Given the description of an element on the screen output the (x, y) to click on. 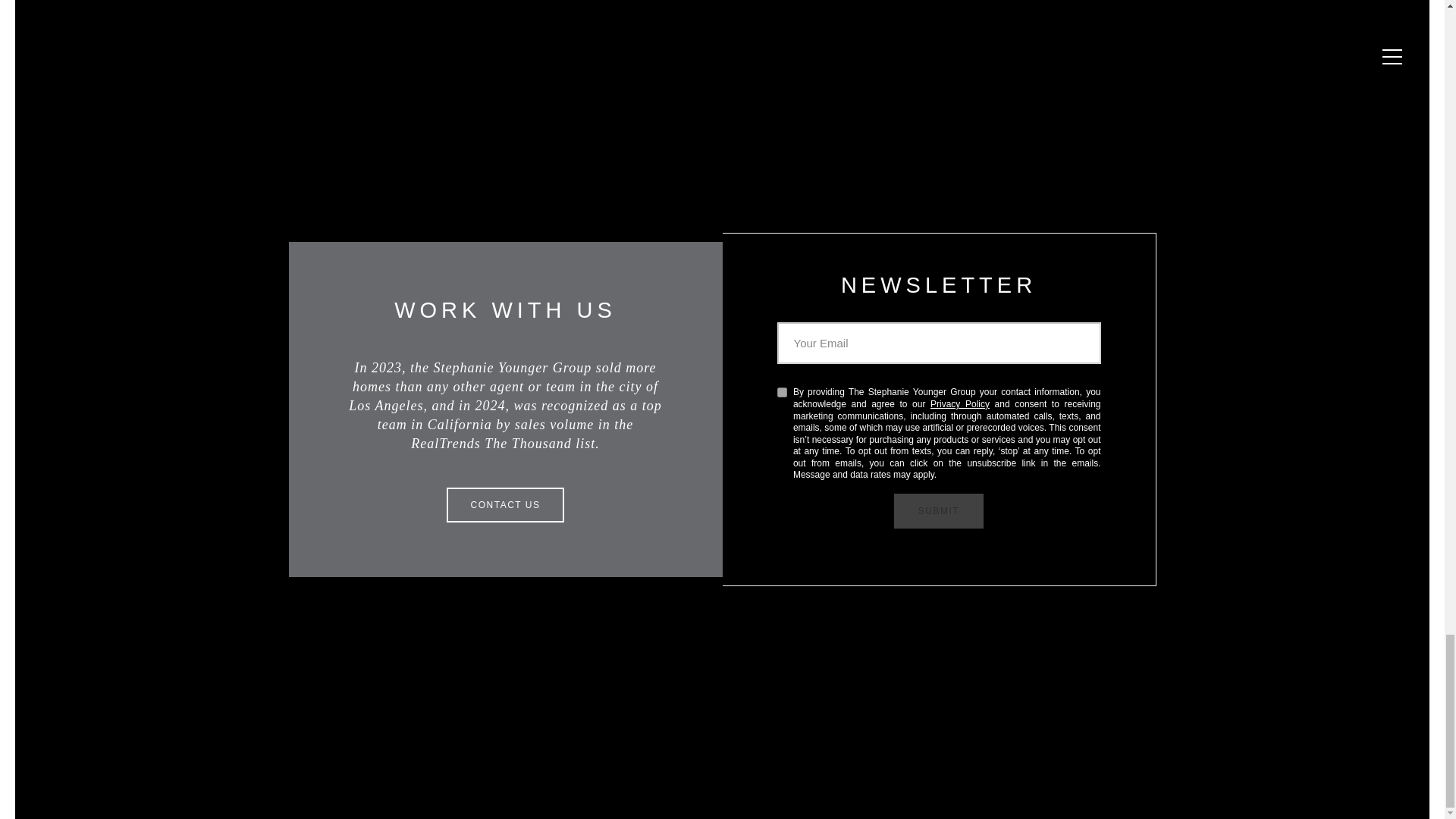
on (781, 392)
